Given the description of an element on the screen output the (x, y) to click on. 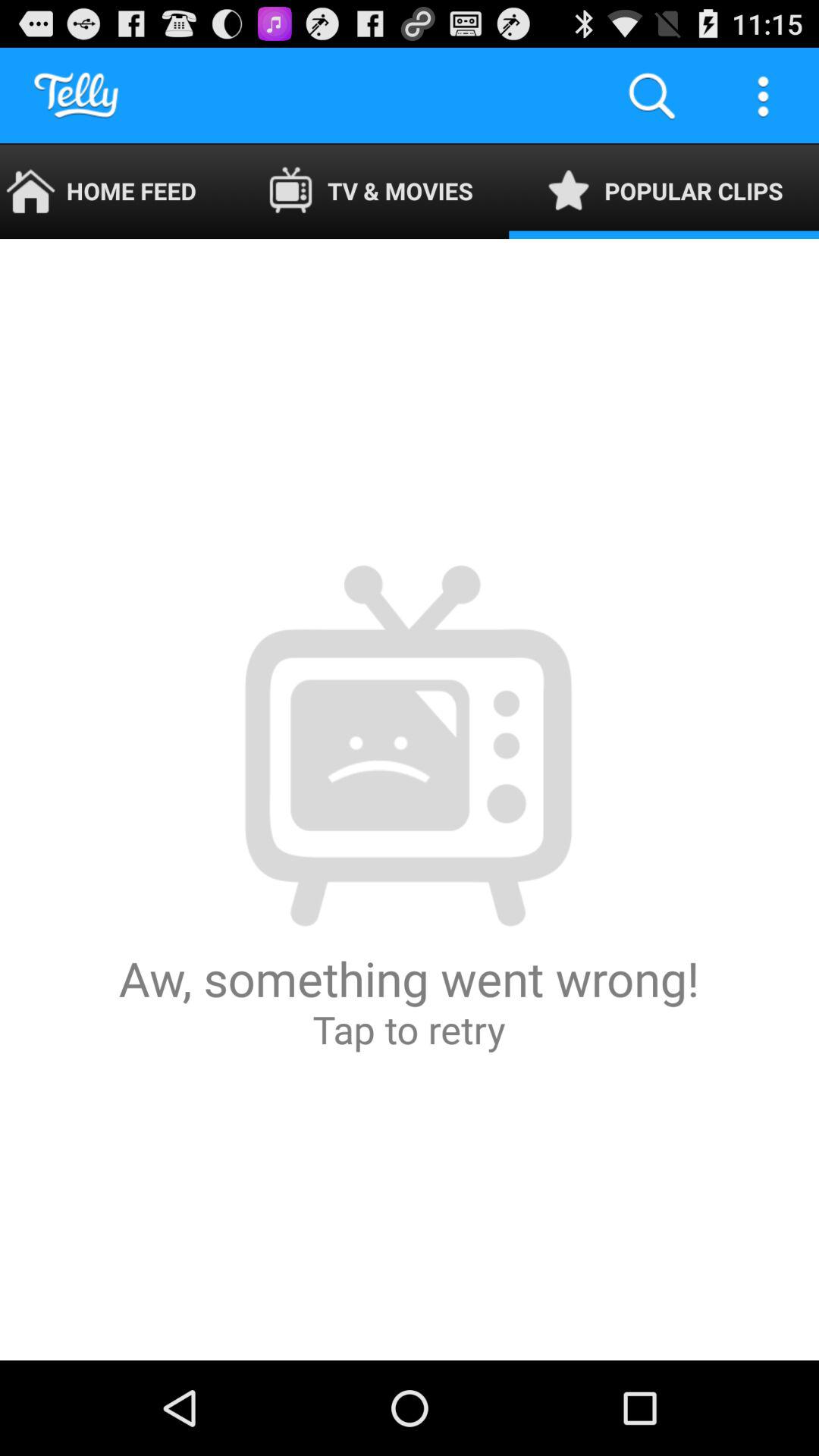
launch icon to the left of tv & movies icon (116, 190)
